Given the description of an element on the screen output the (x, y) to click on. 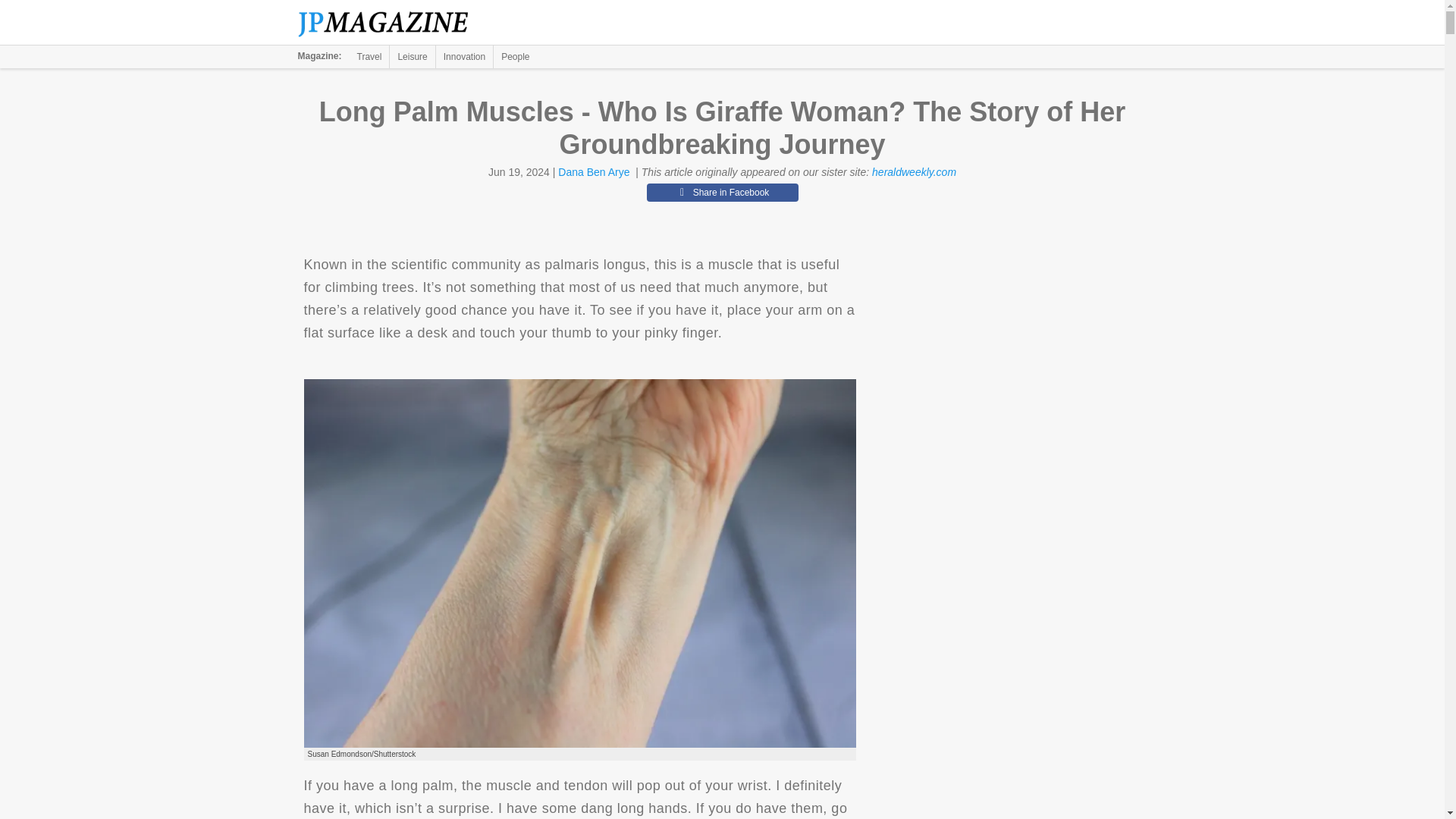
heraldweekly.com (914, 172)
Innovation (464, 56)
Leisure (411, 56)
People (515, 56)
Travel (369, 56)
Dana Ben Arye (592, 172)
The Jerusalem Post Magazine (391, 22)
Share in Facebook (721, 192)
